Given the description of an element on the screen output the (x, y) to click on. 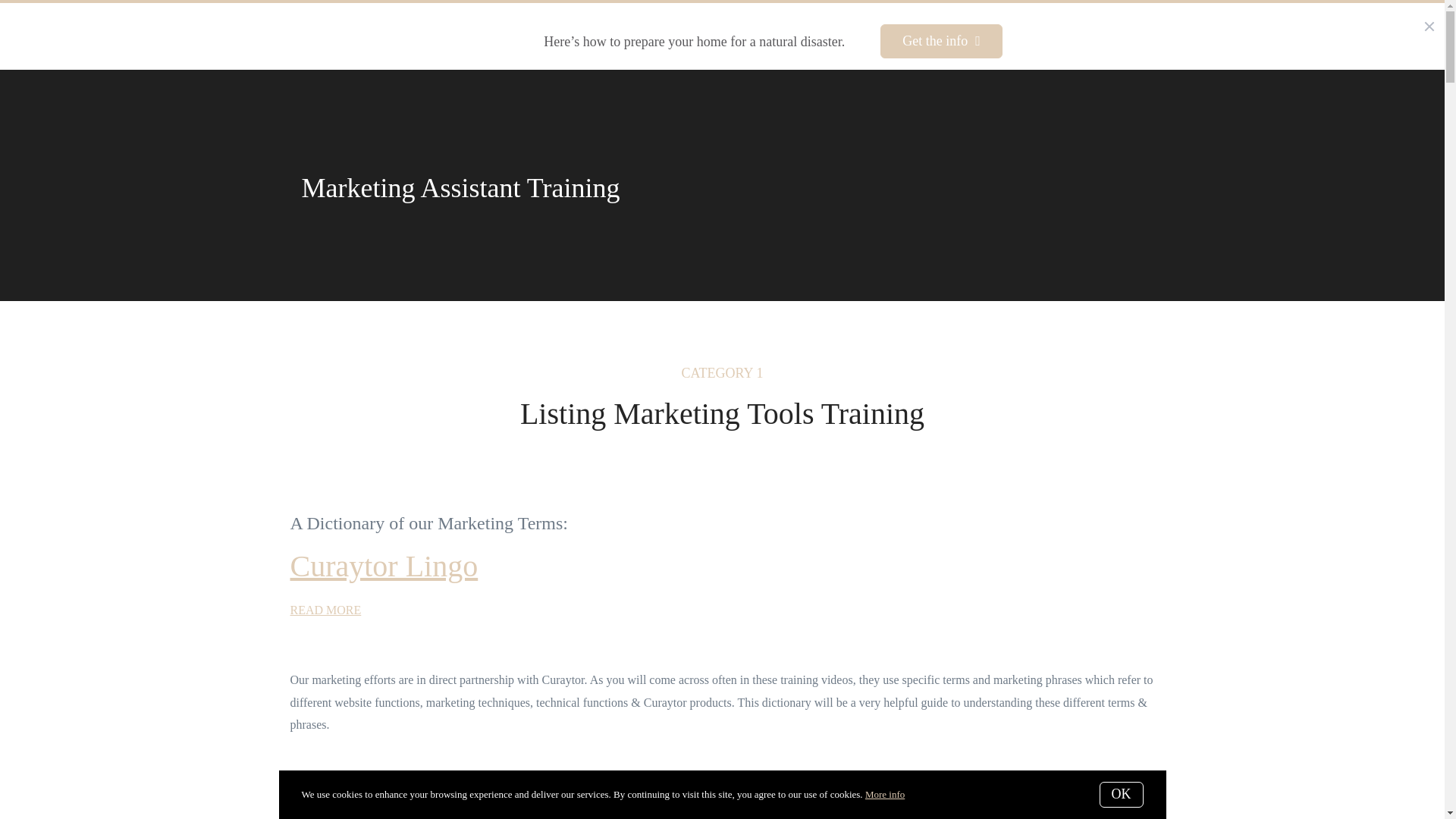
Get the info (941, 41)
READ MORE (325, 609)
Curaytor Lingo (383, 565)
